Given the description of an element on the screen output the (x, y) to click on. 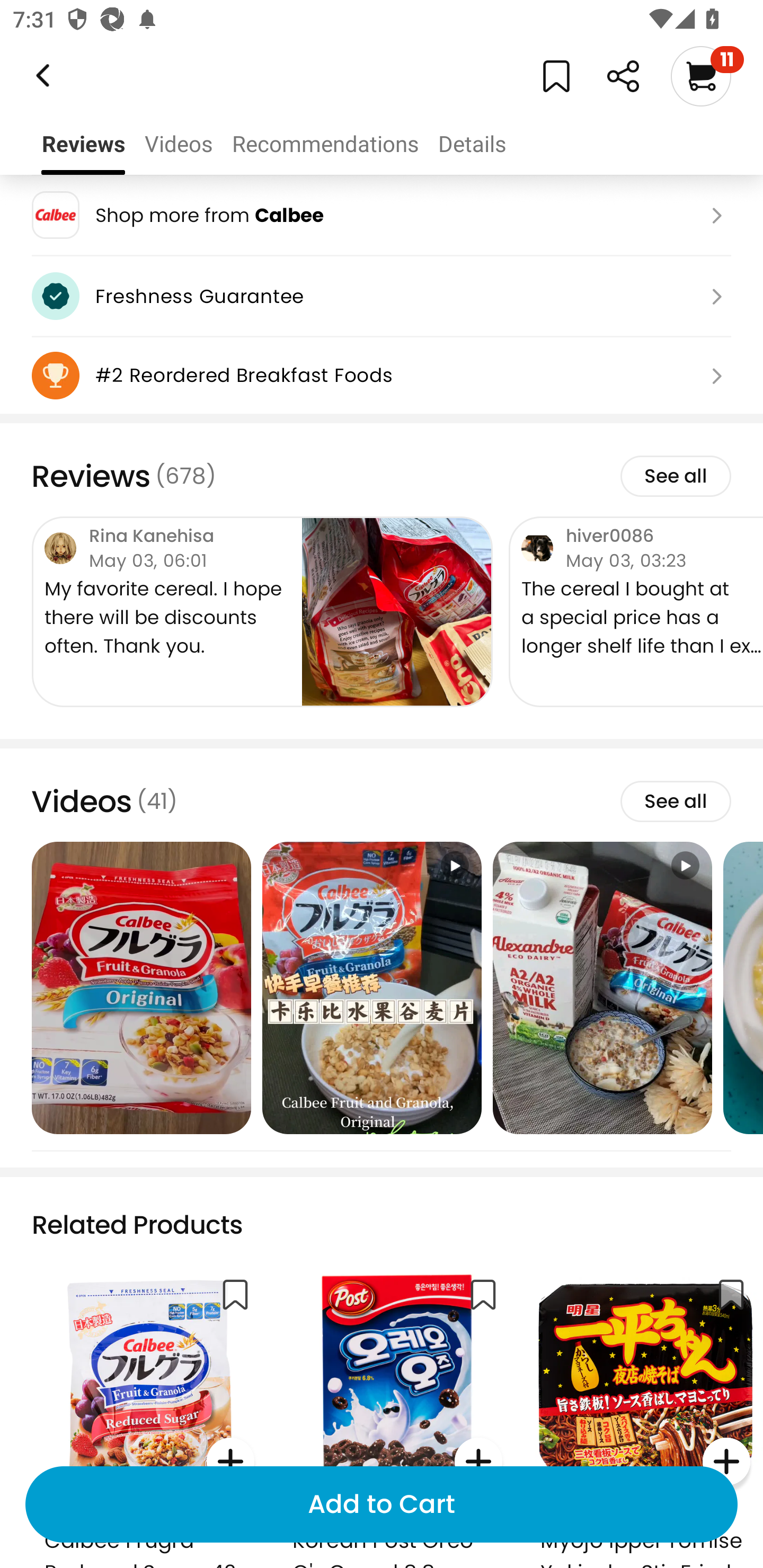
Weee! (41, 75)
11 (706, 75)
Weee! (623, 75)
Reviews (83, 144)
Videos (178, 144)
Recommendations (325, 144)
Details (471, 144)
Shop more from Calbee Weee! (381, 214)
Freshness Guarantee (381, 296)
Weee! #2 Reordered Breakfast Foods (381, 375)
Reviews (678) See all (381, 475)
See all (675, 800)
Calbee Frugra Reduced Sugar 425 g (149, 1415)
Korean Post Oreo O's Cereal 8.8 oz (397, 1415)
Add to Cart (381, 1504)
Add to Cart (381, 1504)
